Given the description of an element on the screen output the (x, y) to click on. 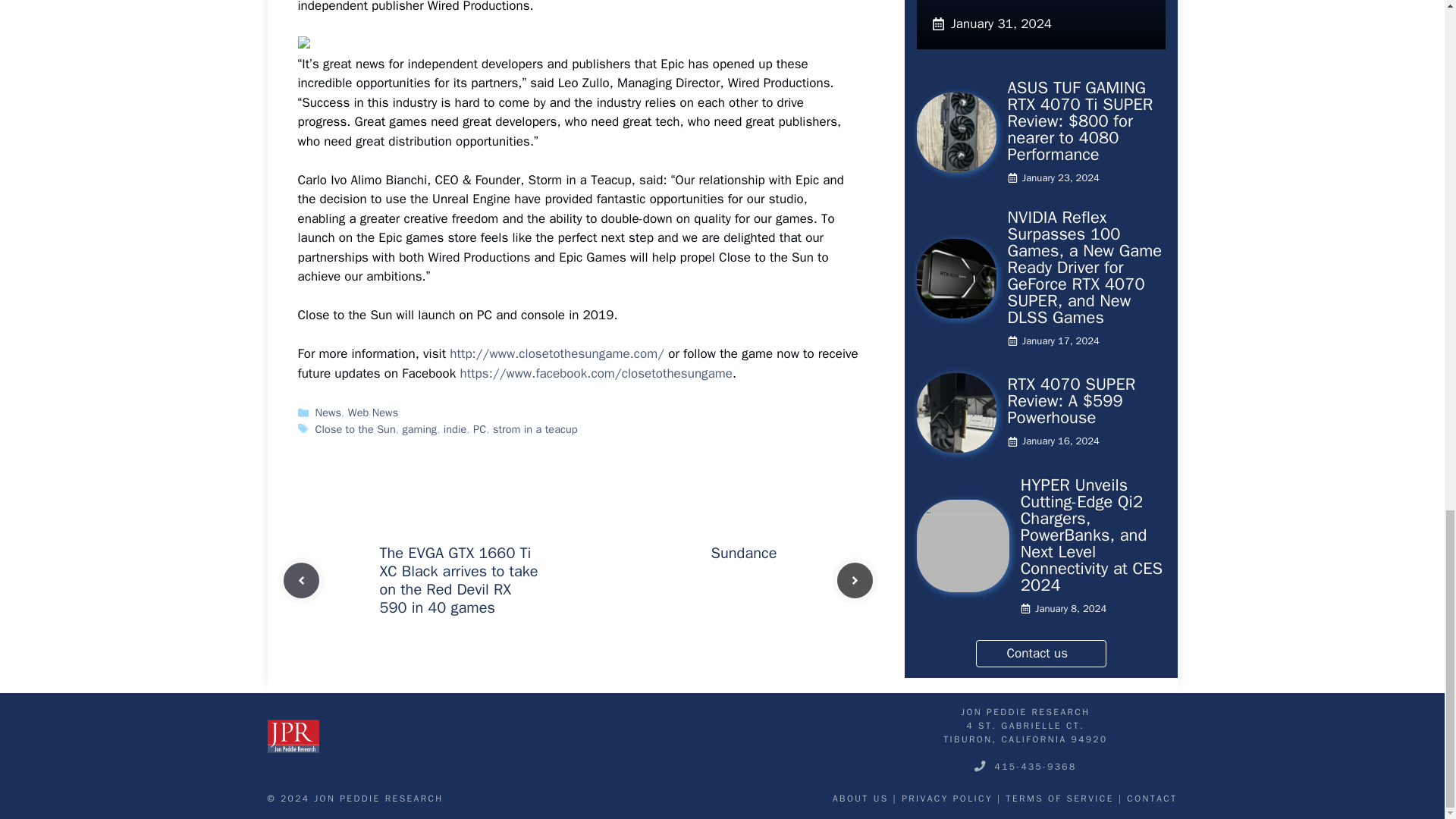
Web News (372, 412)
Scroll back to top (1406, 166)
News (327, 412)
Close to the Sun (355, 428)
PC (479, 428)
indie (454, 428)
gaming (420, 428)
strom in a teacup (535, 428)
